Given the description of an element on the screen output the (x, y) to click on. 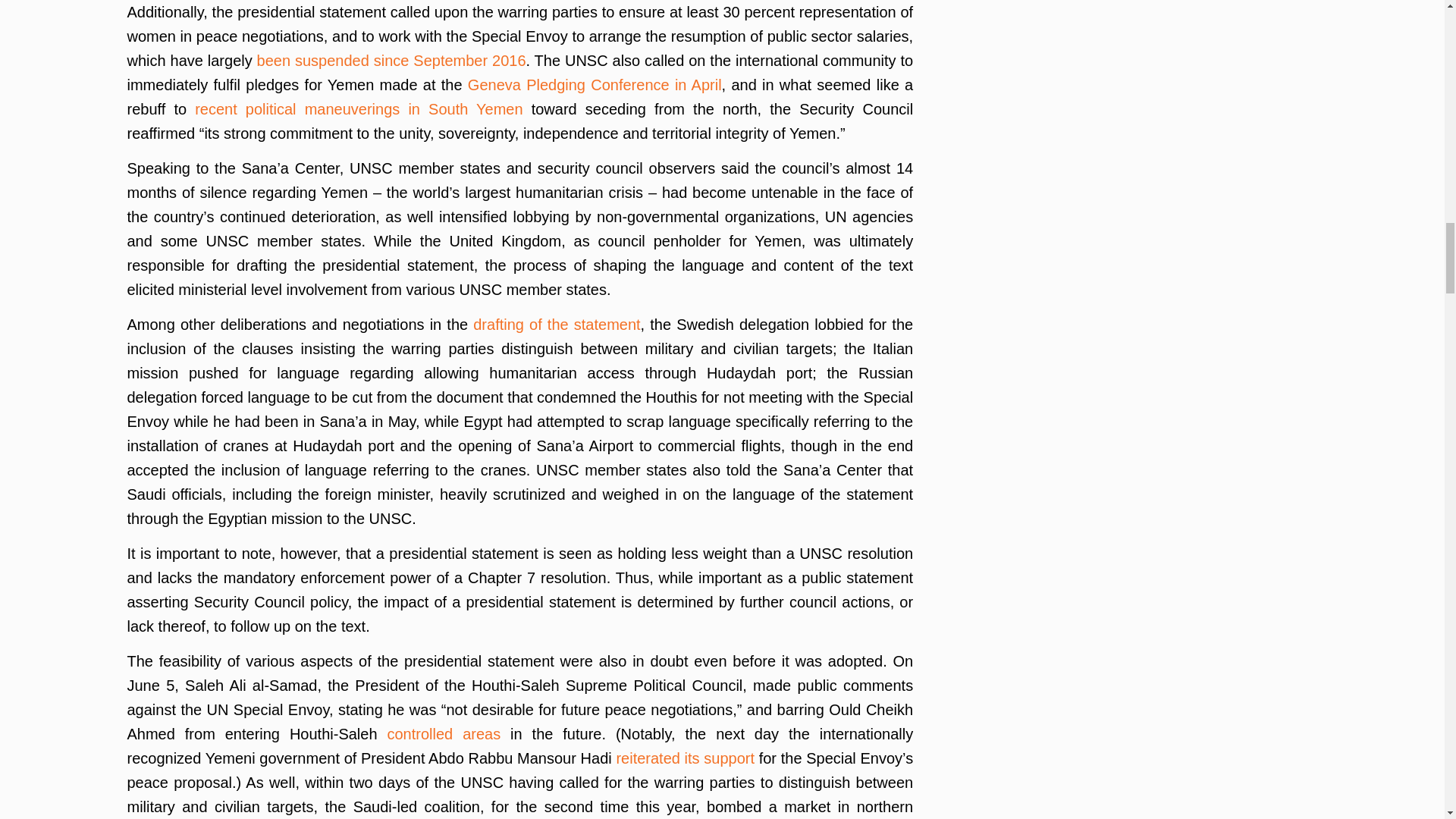
been suspended since September 2016 (391, 60)
drafting of the statement (556, 324)
recent political maneuverings in South Yemen (358, 108)
reiterated its support (684, 758)
controlled areas (443, 733)
Geneva Pledging Conference in April (594, 84)
